Given the description of an element on the screen output the (x, y) to click on. 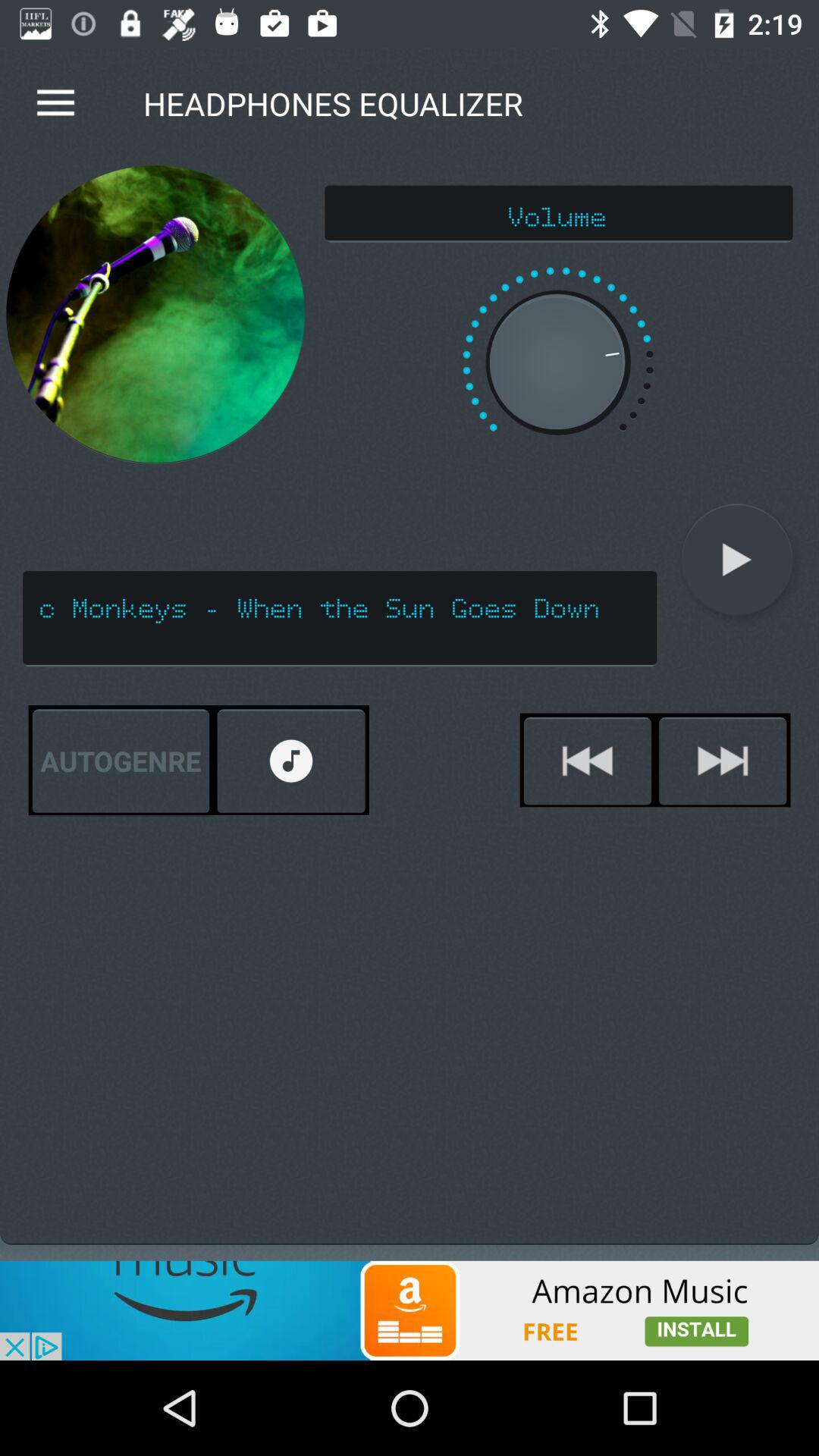
launch icon next to arctic monkeys when icon (736, 559)
